Given the description of an element on the screen output the (x, y) to click on. 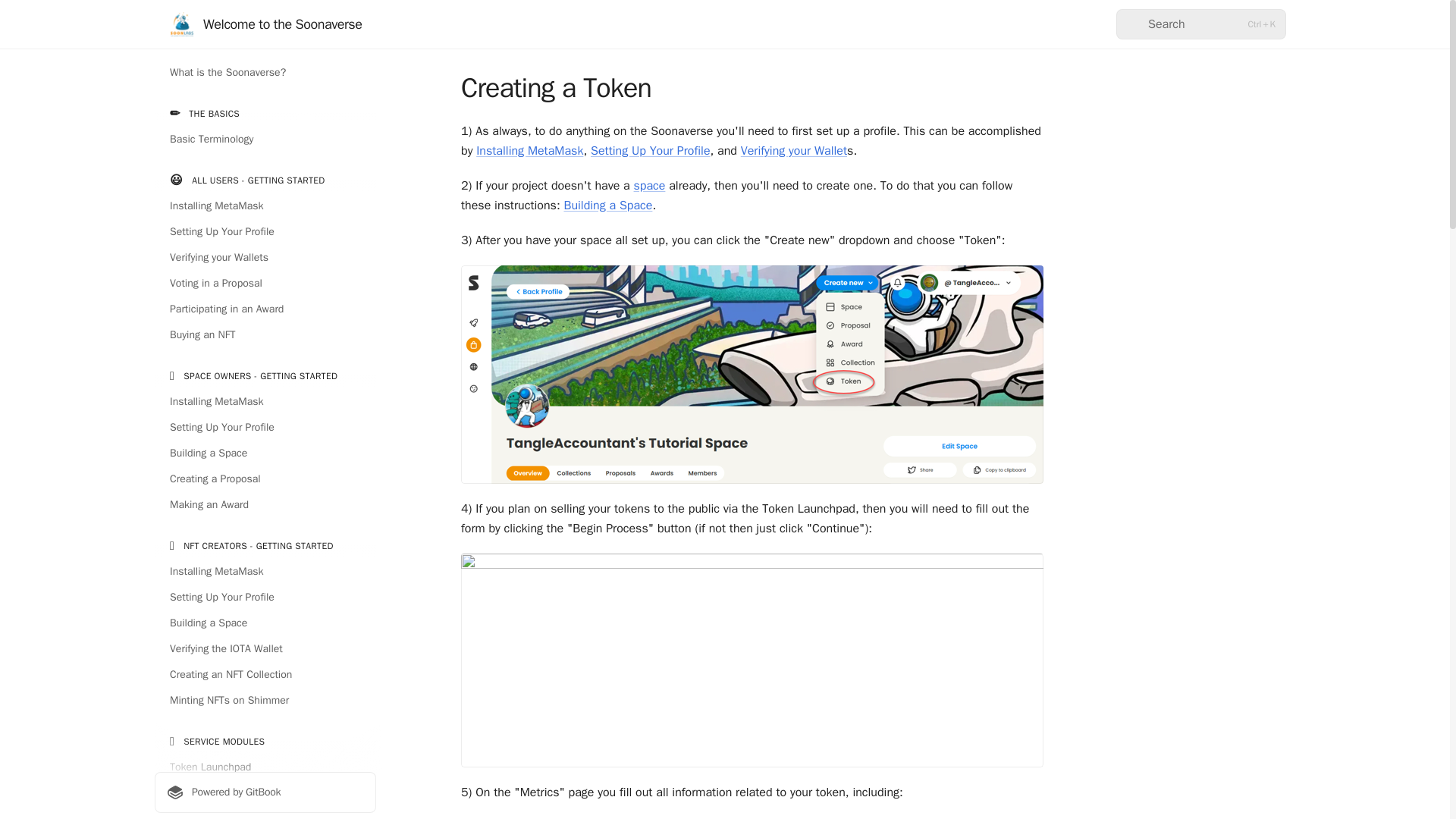
Verifying your Wallets (264, 257)
Welcome to the Soonaverse (265, 24)
Installing MetaMask (264, 401)
Basic Terminology (264, 139)
Voting in a Proposal (264, 283)
Setting Up Your Profile (264, 427)
Installing MetaMask (264, 206)
Setting Up Your Profile (264, 232)
What is the Soonaverse? (264, 72)
Creating a Proposal (264, 478)
